Given the description of an element on the screen output the (x, y) to click on. 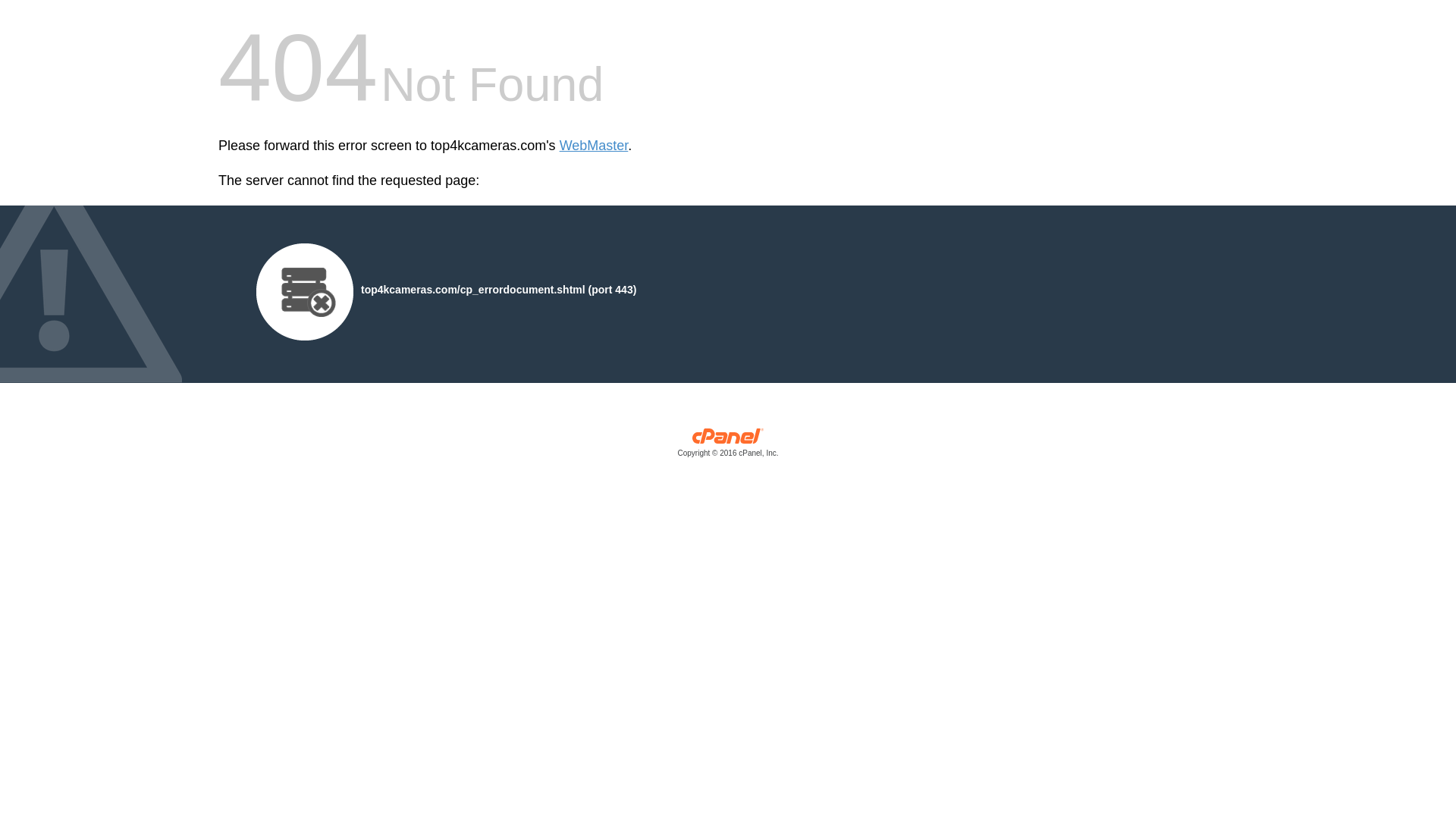
cPanel, Inc. (727, 446)
WebMaster (593, 145)
